Given the description of an element on the screen output the (x, y) to click on. 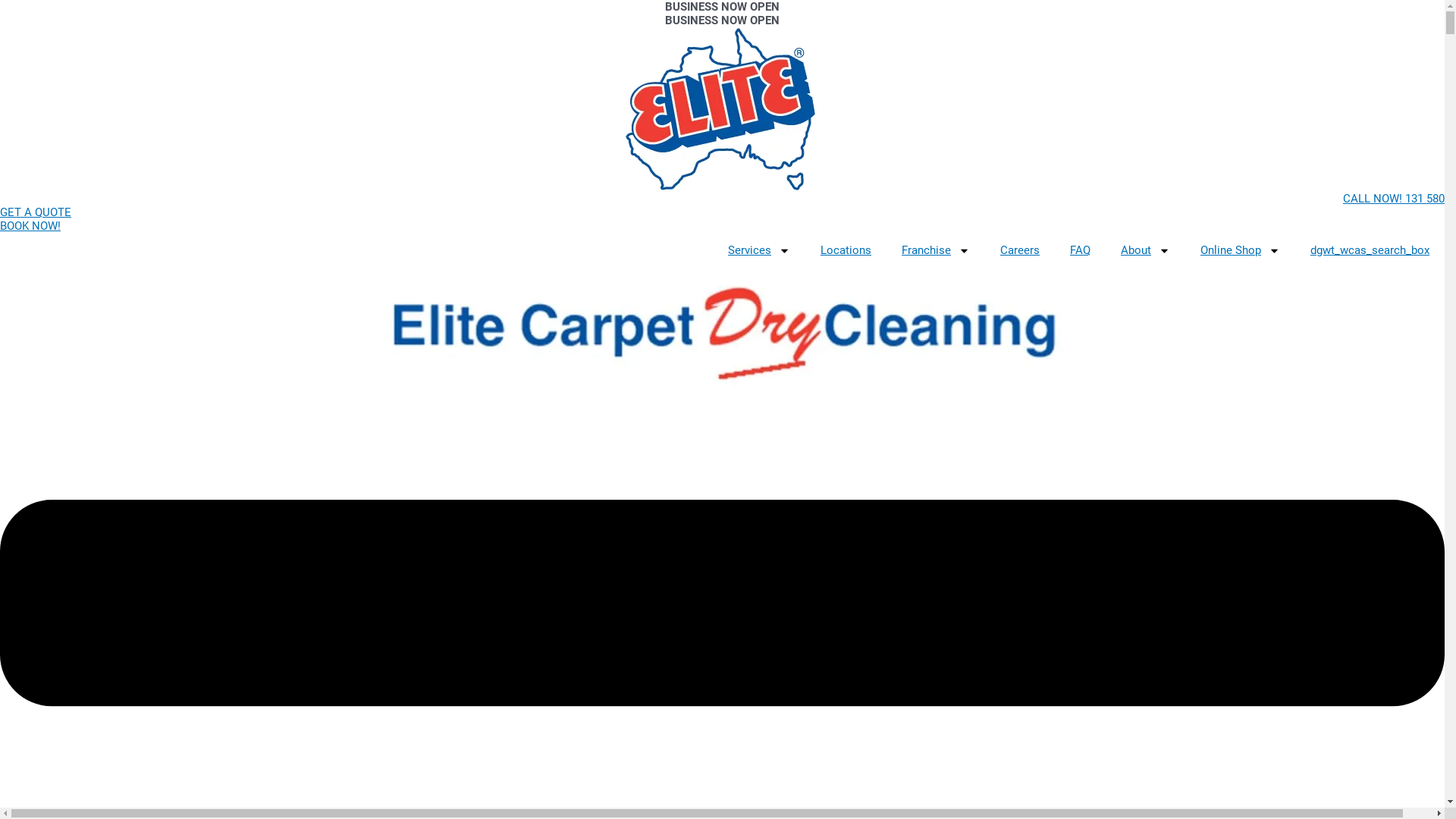
Online Shop Element type: text (1240, 249)
CALL NOW! 131 580 Element type: text (722, 198)
dgwt_wcas_search_box Element type: text (1369, 249)
FAQ Element type: text (1079, 249)
GET A QUOTE Element type: text (35, 212)
Services Element type: text (758, 249)
BOOK NOW! Element type: text (30, 225)
Franchise Element type: text (935, 249)
About Element type: text (1145, 249)
Careers Element type: text (1019, 249)
Locations Element type: text (845, 249)
